Given the description of an element on the screen output the (x, y) to click on. 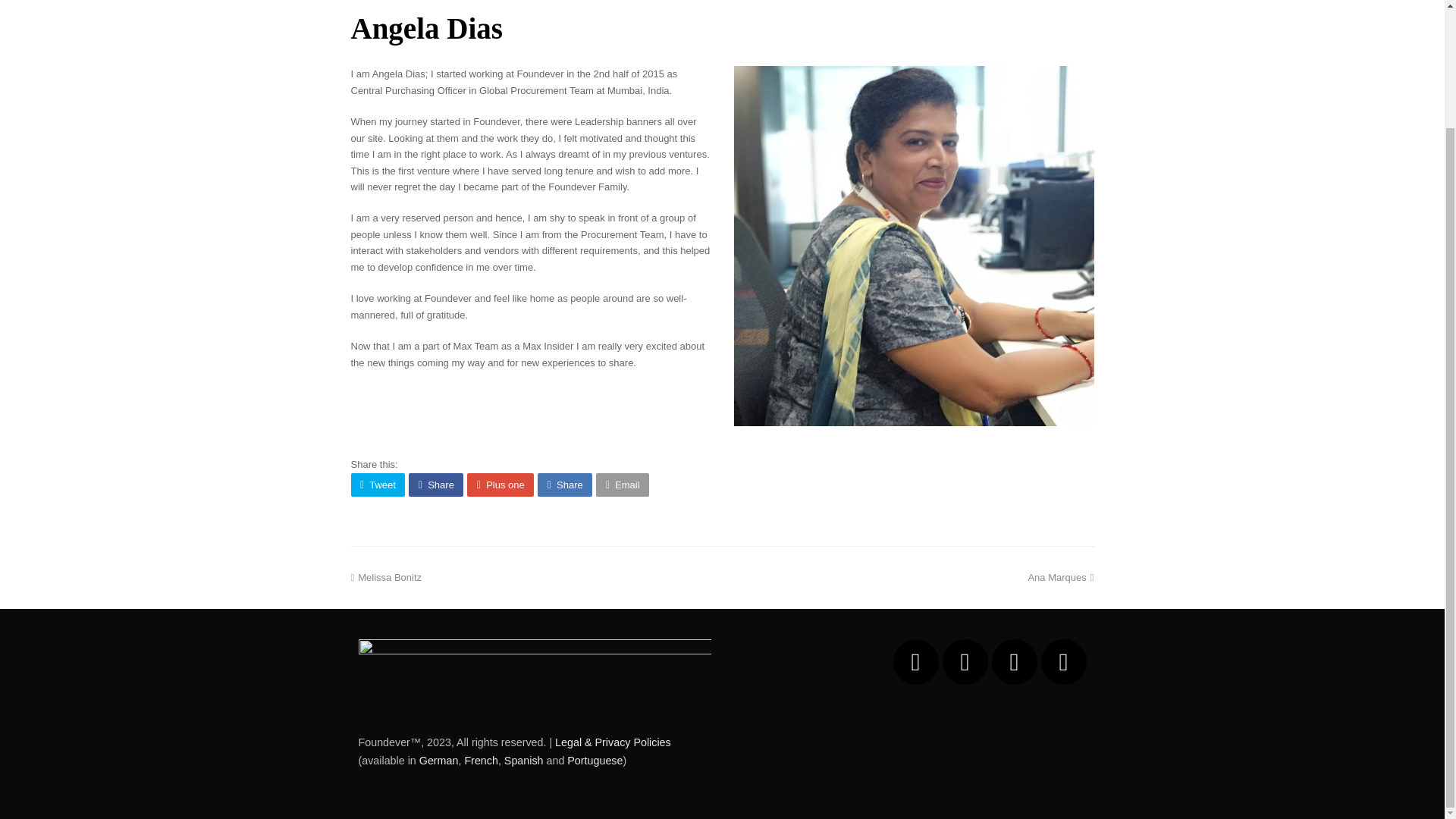
Tweet (377, 484)
LinkedIn (1013, 661)
Spanish (523, 760)
Portuguese (595, 760)
Facebook (964, 661)
French (480, 760)
Email (622, 484)
Share (564, 484)
German (438, 760)
Twitter (1063, 661)
Twitter (1063, 661)
Youtube (916, 661)
LinkedIn (1060, 577)
